Given the description of an element on the screen output the (x, y) to click on. 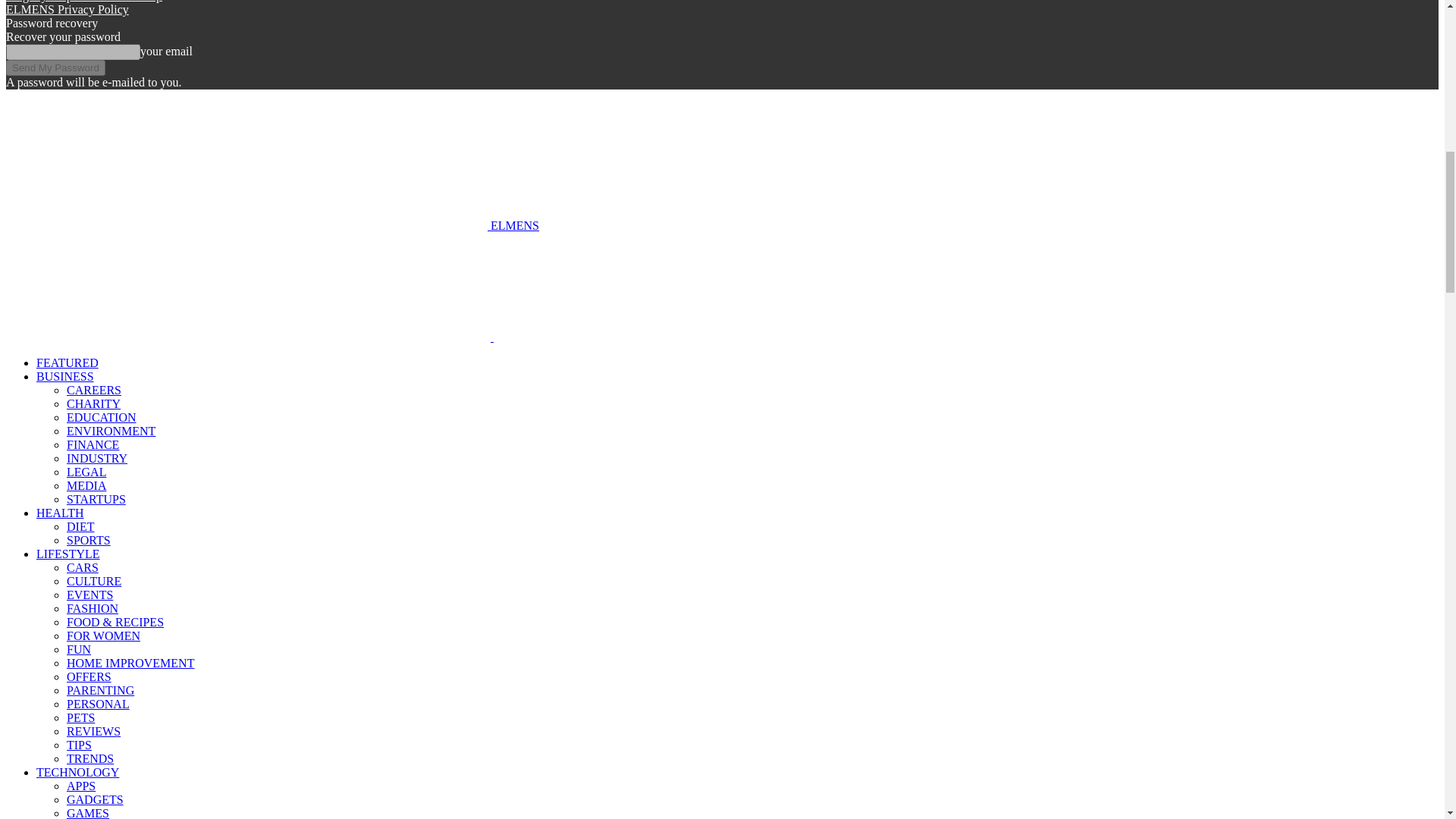
CATEGORIES (67, 362)
LIFESTYLE (68, 553)
elmenslogo (735, 286)
Send My Password (54, 67)
elmenslogo (246, 159)
elmenslogo (247, 286)
